Given the description of an element on the screen output the (x, y) to click on. 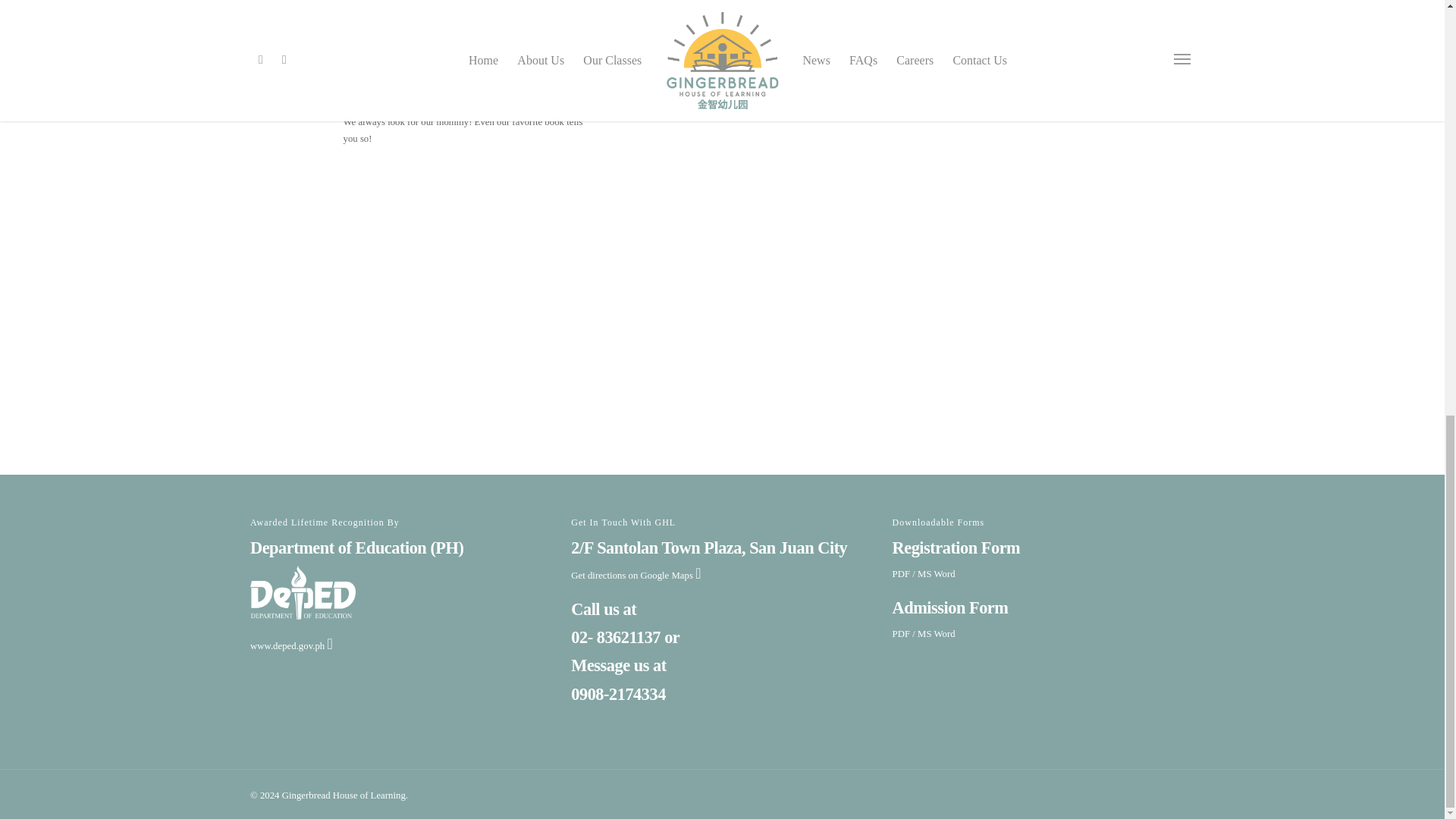
PDF (901, 633)
MS Word (936, 573)
MS Word (936, 633)
PDF (901, 573)
